Given the description of an element on the screen output the (x, y) to click on. 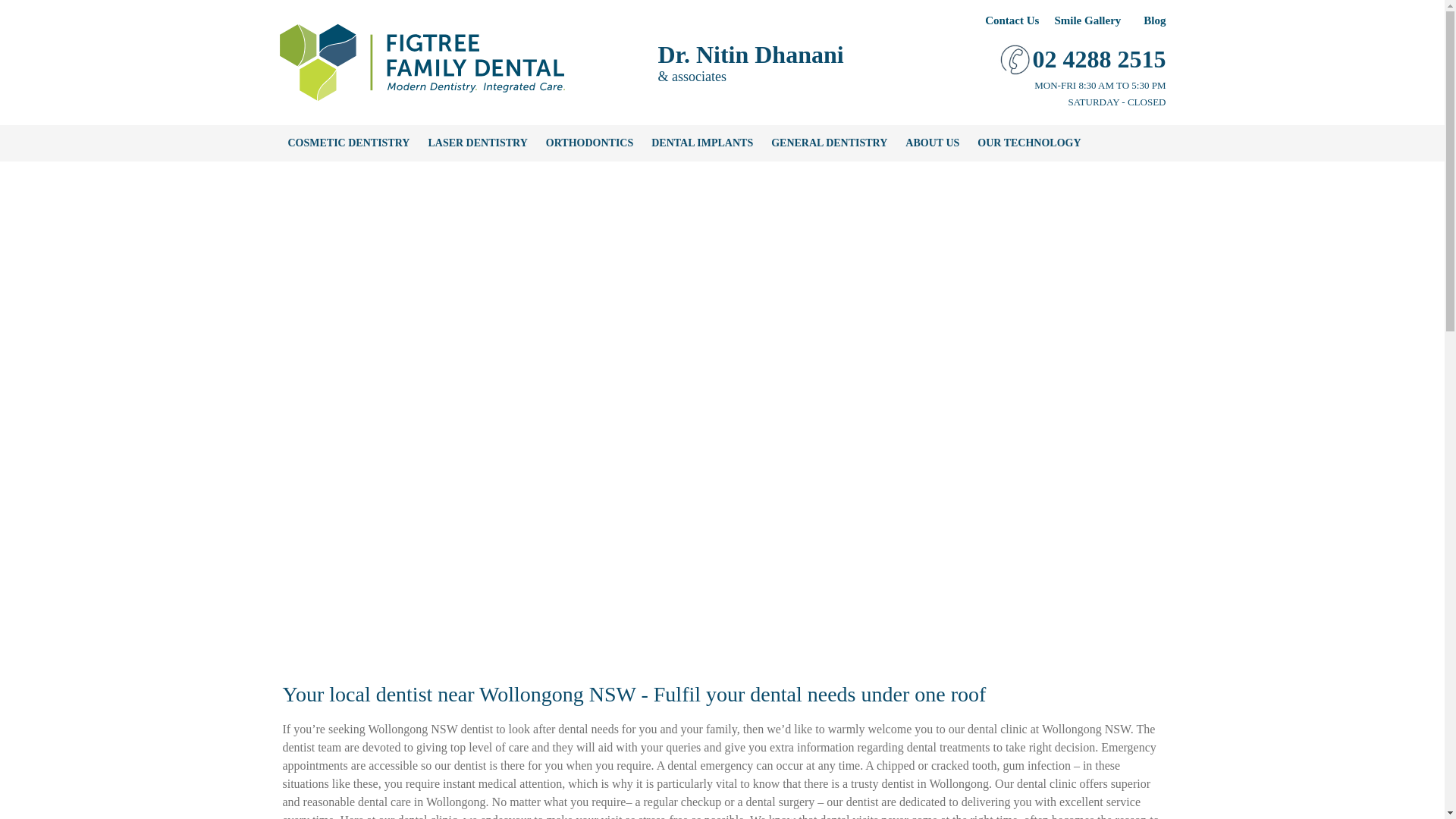
ORTHODONTICS Element type: text (589, 143)
GENERAL DENTISTRY Element type: text (829, 143)
DENTAL IMPLANTS Element type: text (702, 143)
COSMETIC DENTISTRY Element type: text (349, 143)
Smile Gallery Element type: text (1087, 20)
ABOUT US Element type: text (932, 143)
LASER DENTISTRY Element type: text (477, 143)
Blog Element type: text (1154, 20)
Contact Us Element type: text (1011, 20)
OUR TECHNOLOGY Element type: text (1028, 143)
